Given the description of an element on the screen output the (x, y) to click on. 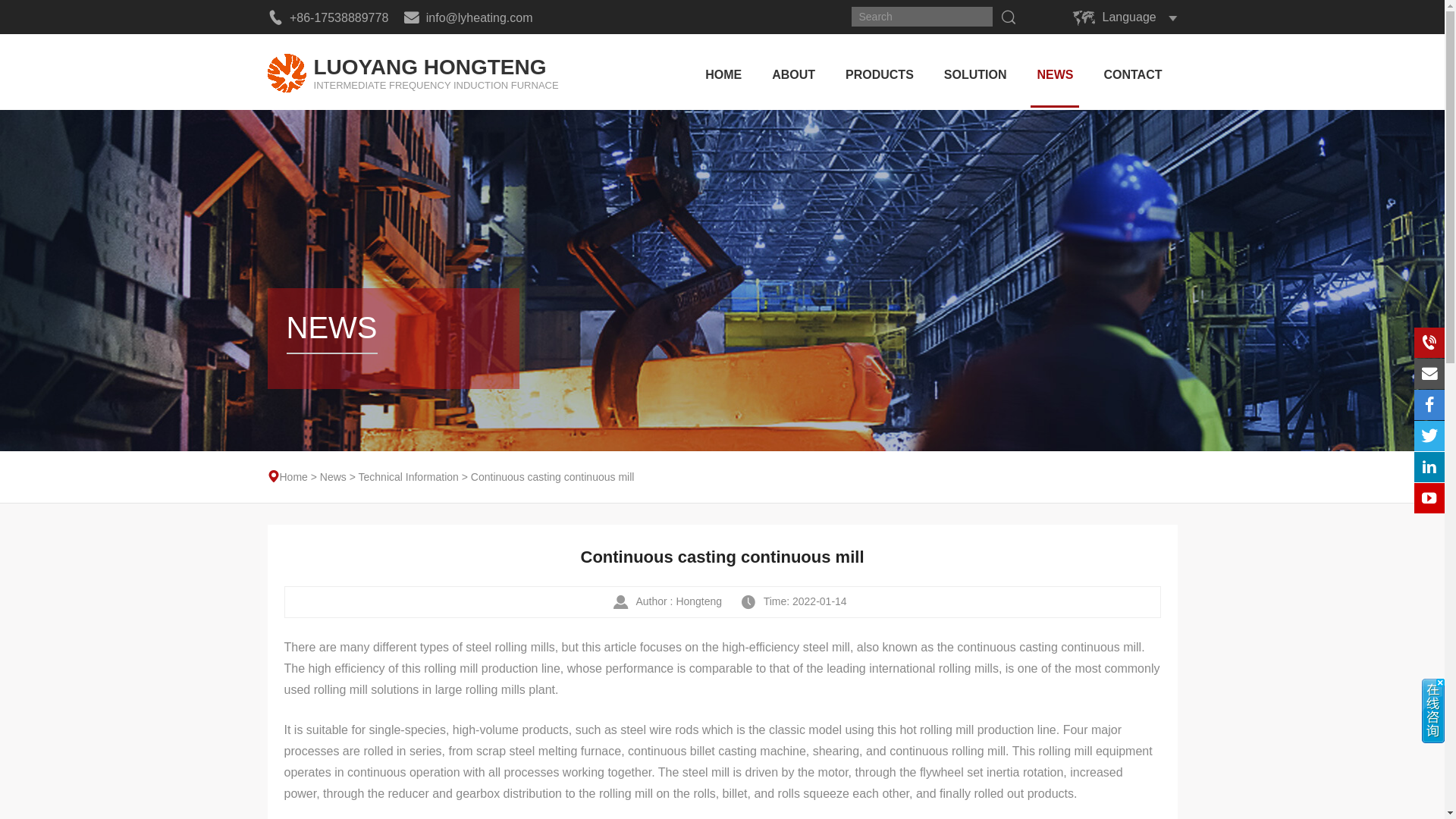
SOLUTION (411, 71)
Language (975, 71)
PRODUCTS (1129, 16)
Hongteng induction furnace and rolling mill (878, 71)
ABOUT (411, 71)
CONTACT (793, 71)
